Given the description of an element on the screen output the (x, y) to click on. 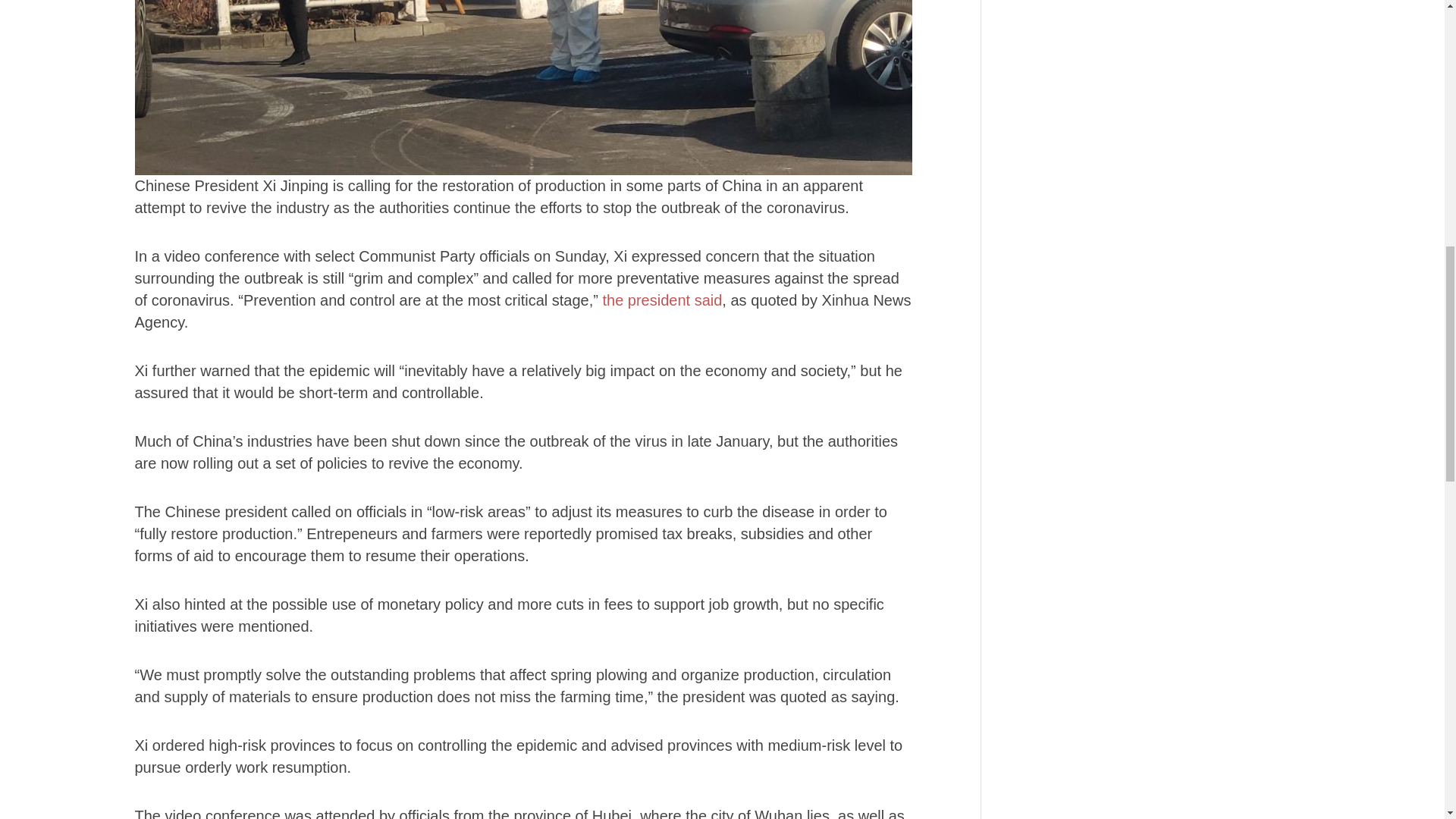
the president said (662, 299)
